Given the description of an element on the screen output the (x, y) to click on. 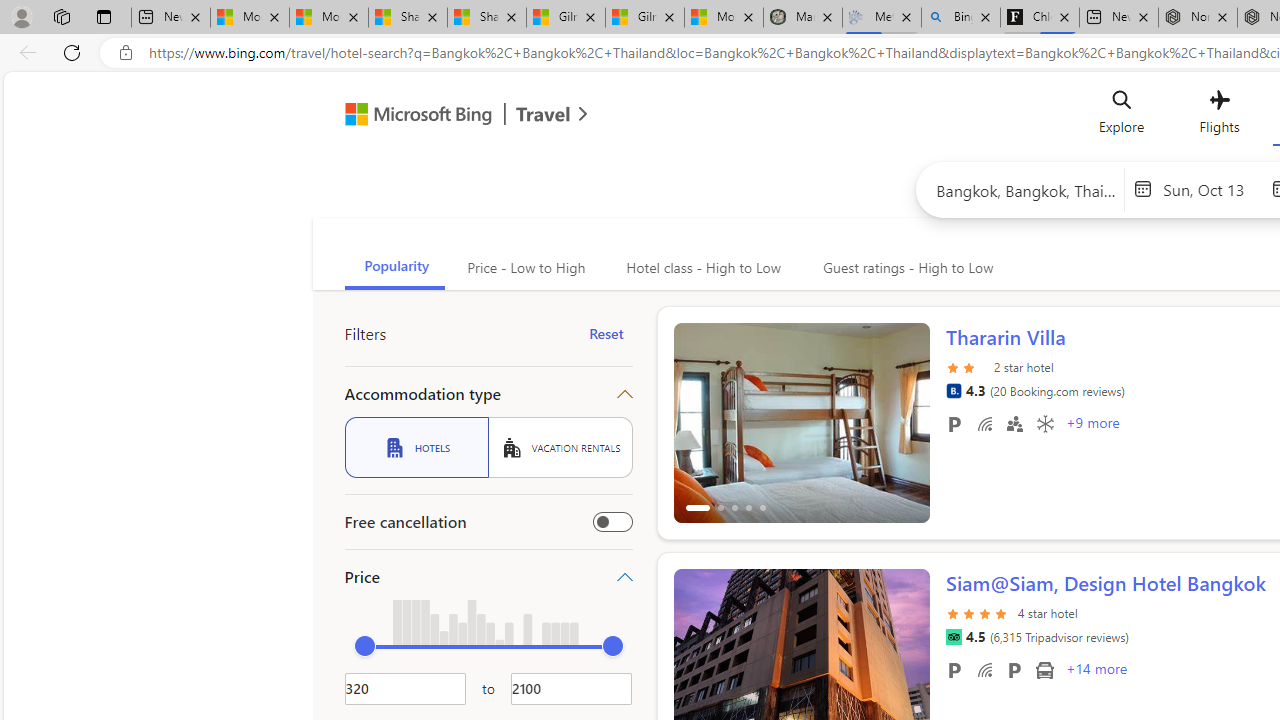
Airport transportation (1044, 669)
ScrollLeft (697, 660)
Flights (1218, 116)
New tab (1119, 17)
AutomationID: TextField872 (405, 688)
Search hotels or place (1026, 190)
Tripadvisor (953, 637)
Start Date (1212, 188)
View site information (125, 53)
Chloe Sorvino (1040, 17)
Close tab (1222, 16)
Bing Real Estate - Home sales and rental listings (960, 17)
Microsoft Bing (410, 116)
Personal Profile (21, 16)
